Given the description of an element on the screen output the (x, y) to click on. 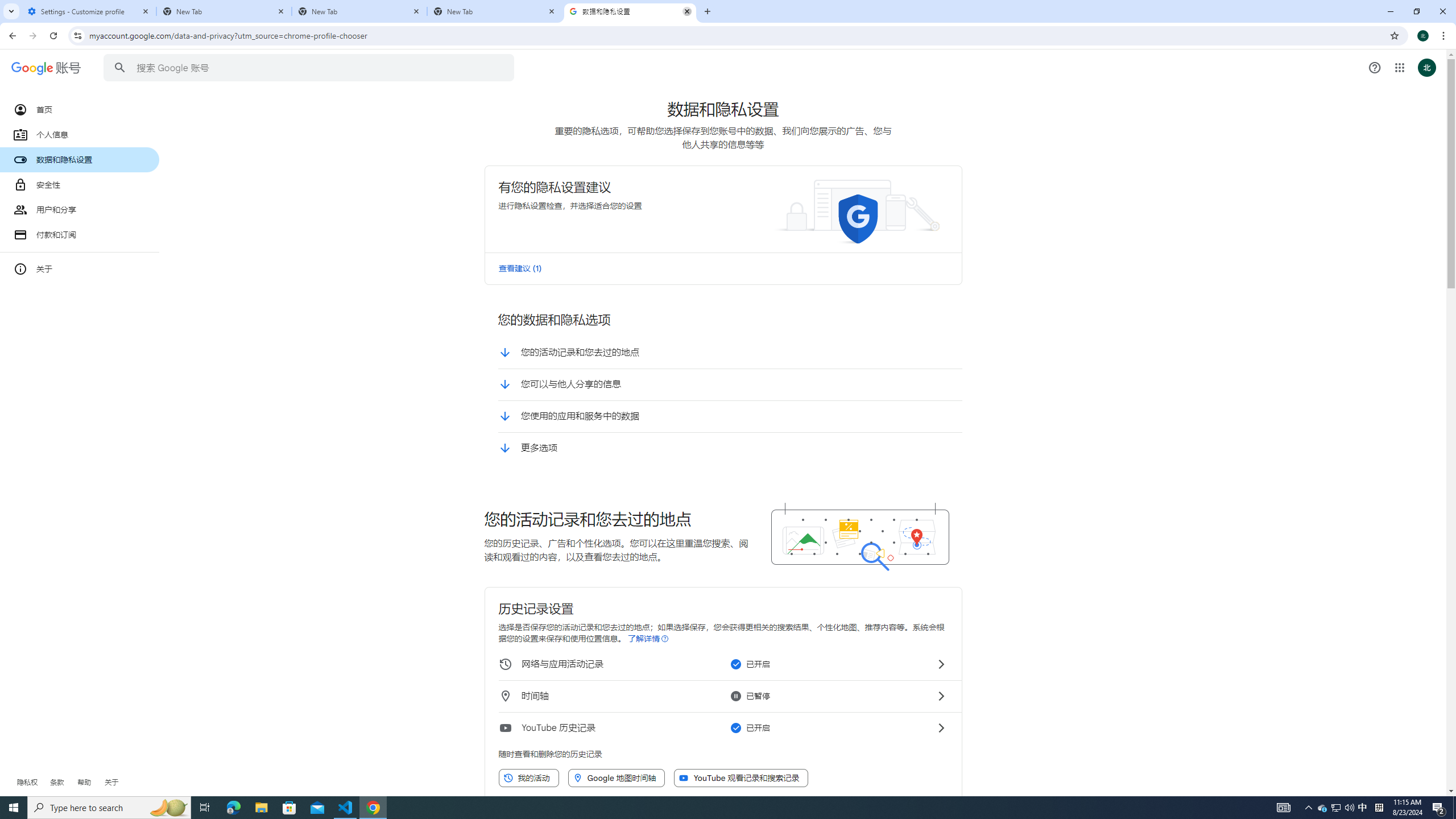
New Tab (224, 11)
More actions for Sign in shortcut (750, 264)
Settings - Customize profile (88, 11)
Web Store (792, 285)
